Given the description of an element on the screen output the (x, y) to click on. 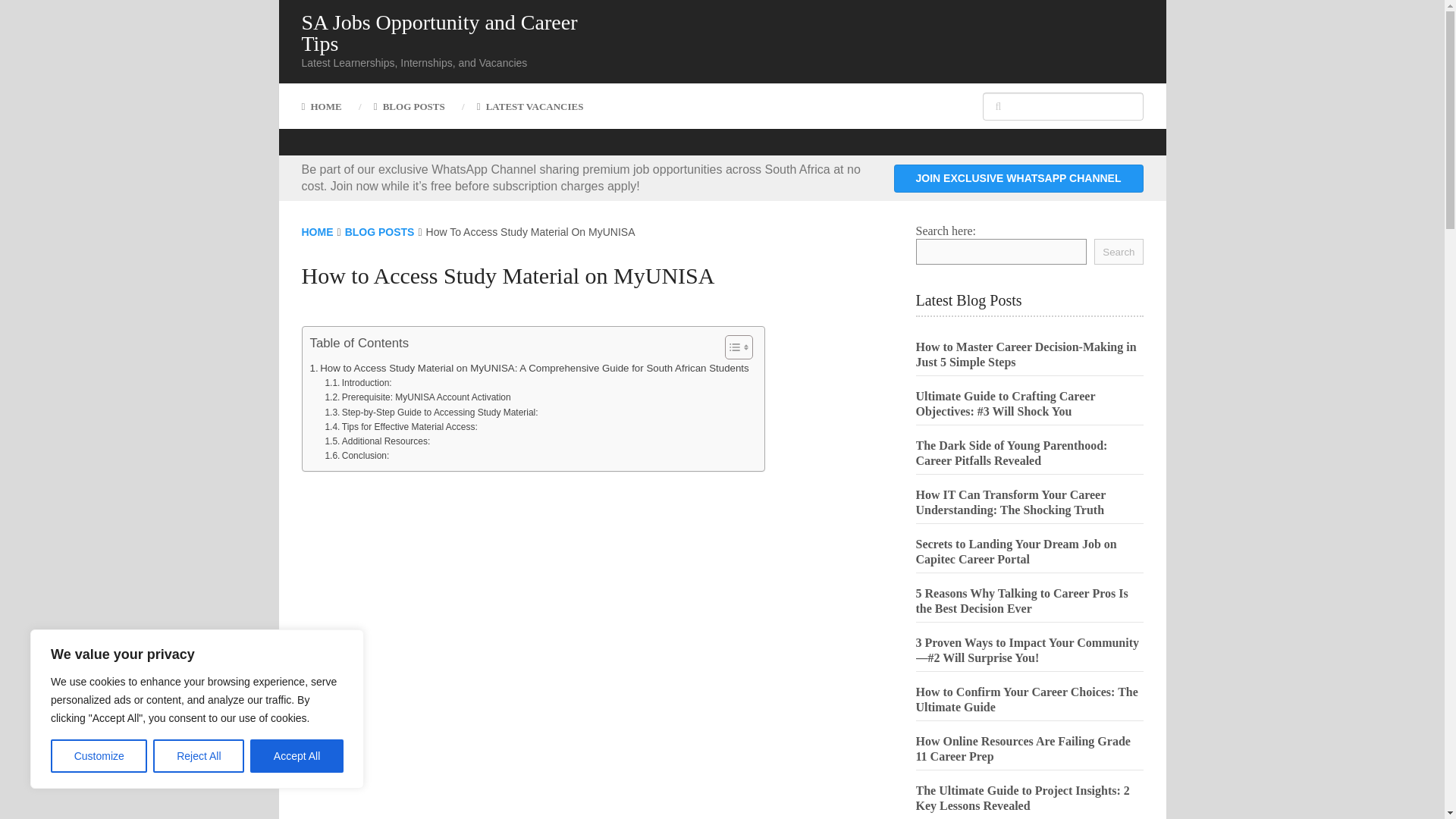
Tips for Effective Material Access: (400, 427)
HOME (317, 232)
Introduction: (357, 382)
Reject All (198, 756)
SA Jobs Opportunity and Career Tips (441, 33)
Additional Resources: (376, 441)
LATEST VACANCIES (530, 105)
Step-by-Step Guide to Accessing Study Material: (430, 412)
Prerequisite: MyUNISA Account Activation (417, 397)
